Given the description of an element on the screen output the (x, y) to click on. 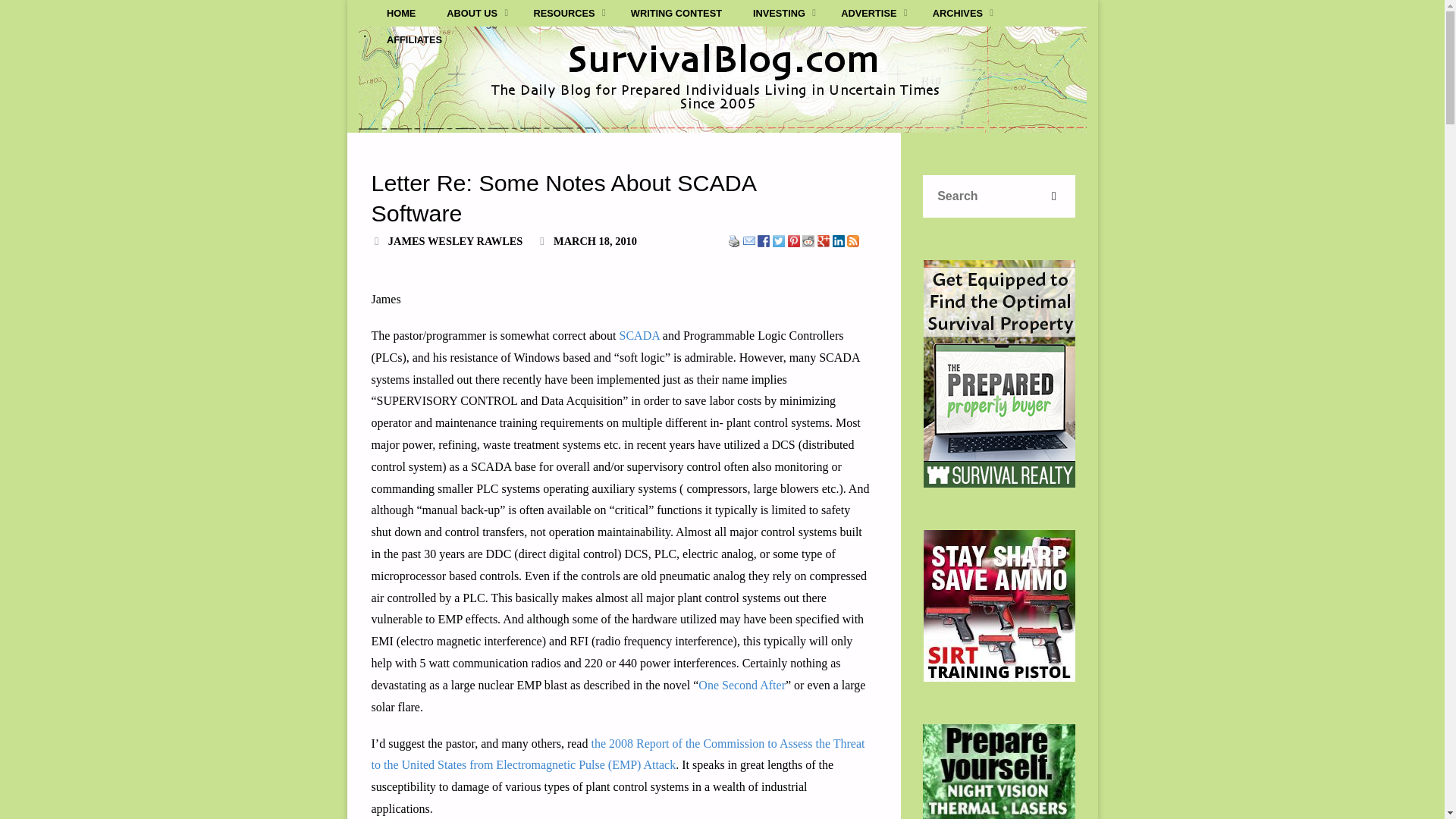
Email This Post (748, 241)
Print This Post (733, 241)
Email This Post (748, 239)
NextLevel Training (999, 605)
Print This Post (733, 239)
Ready Made Resources (999, 771)
View all posts by James Wesley Rawles (455, 241)
